Given the description of an element on the screen output the (x, y) to click on. 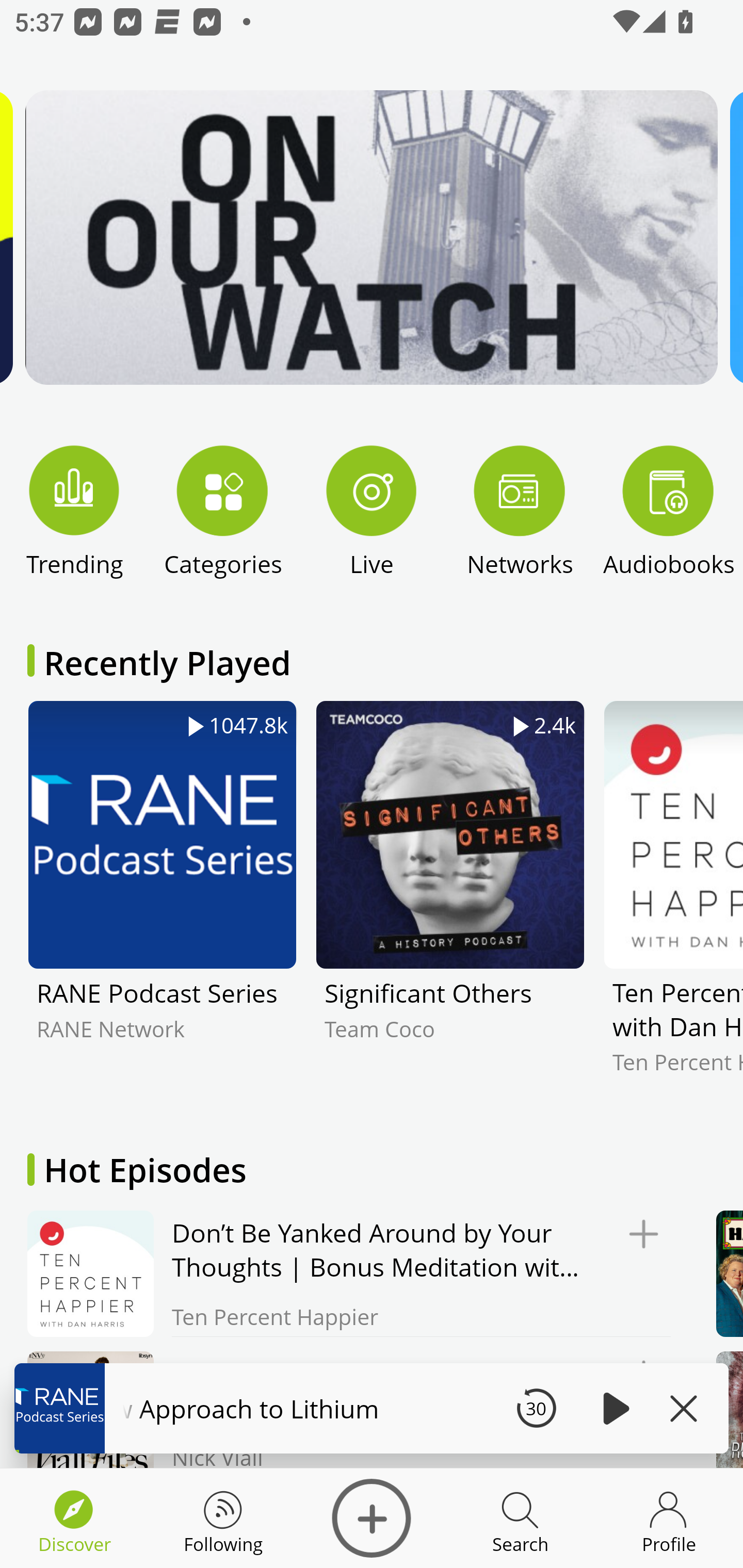
1047.8k RANE Podcast Series RANE Network (162, 902)
2.4k Significant Others Team Coco (450, 902)
Play (613, 1407)
30 Seek Backward (536, 1407)
Discover Following (222, 1518)
Discover (371, 1518)
Discover Search (519, 1518)
Discover Profile (668, 1518)
